Given the description of an element on the screen output the (x, y) to click on. 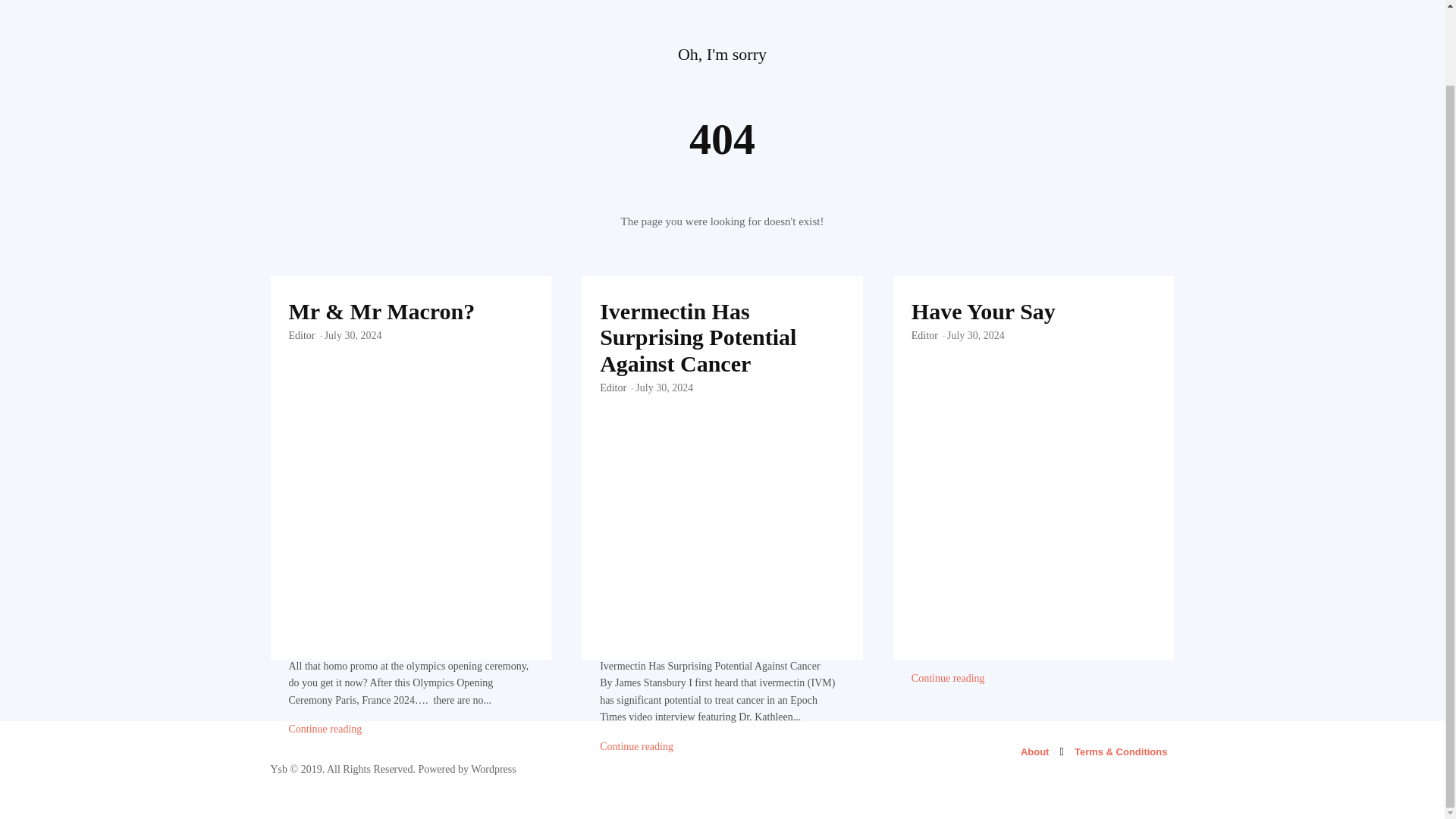
Ivermectin Has Surprising Potential Against Cancer (721, 359)
Continue reading (635, 747)
Continue reading (324, 728)
Have Your Say (1033, 359)
Ivermectin Has Surprising Potential Against Cancer (697, 336)
Have Your Say (983, 310)
Continue reading (948, 678)
Search (1134, 19)
